Given the description of an element on the screen output the (x, y) to click on. 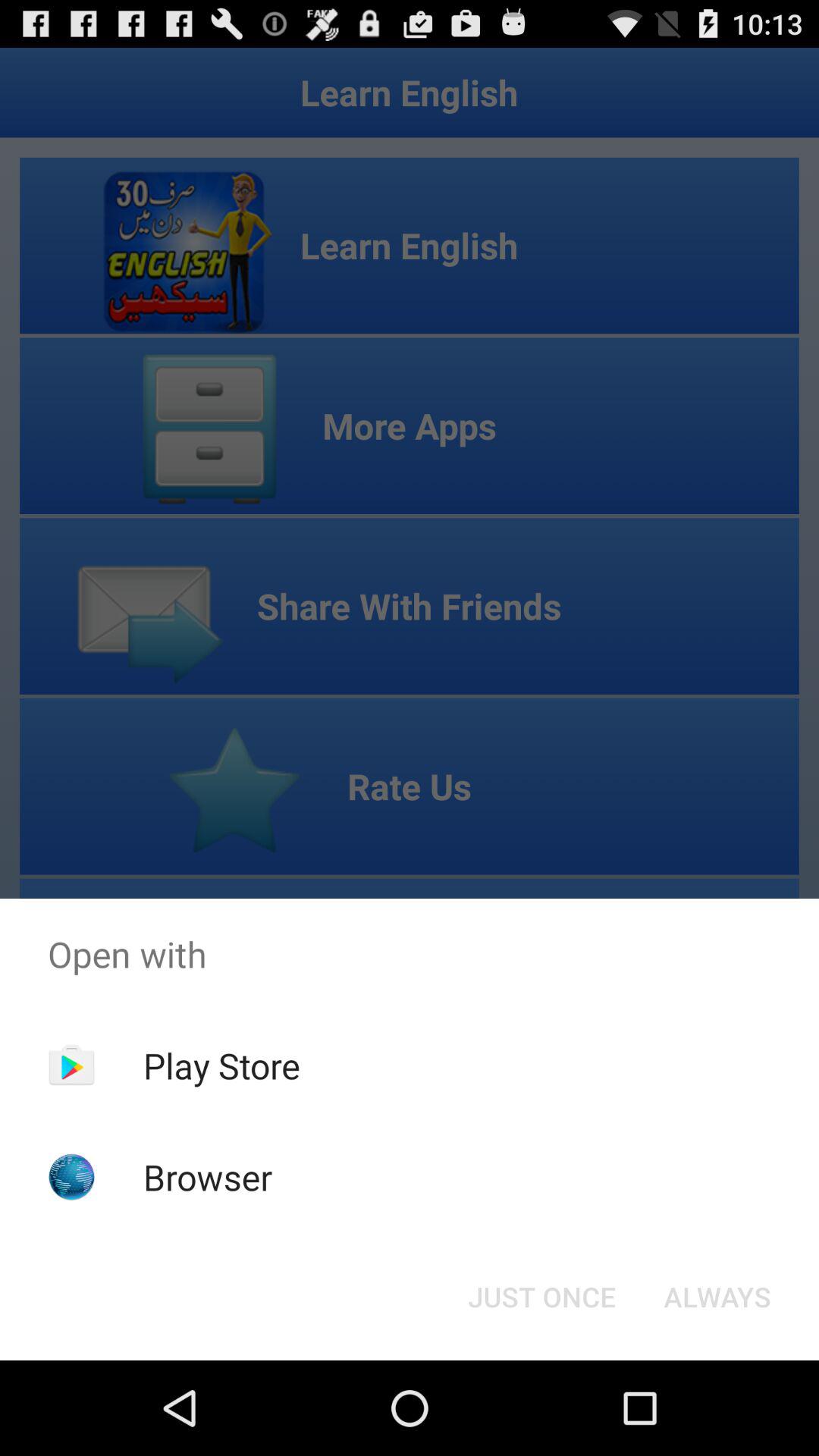
press button to the left of the always item (541, 1296)
